Given the description of an element on the screen output the (x, y) to click on. 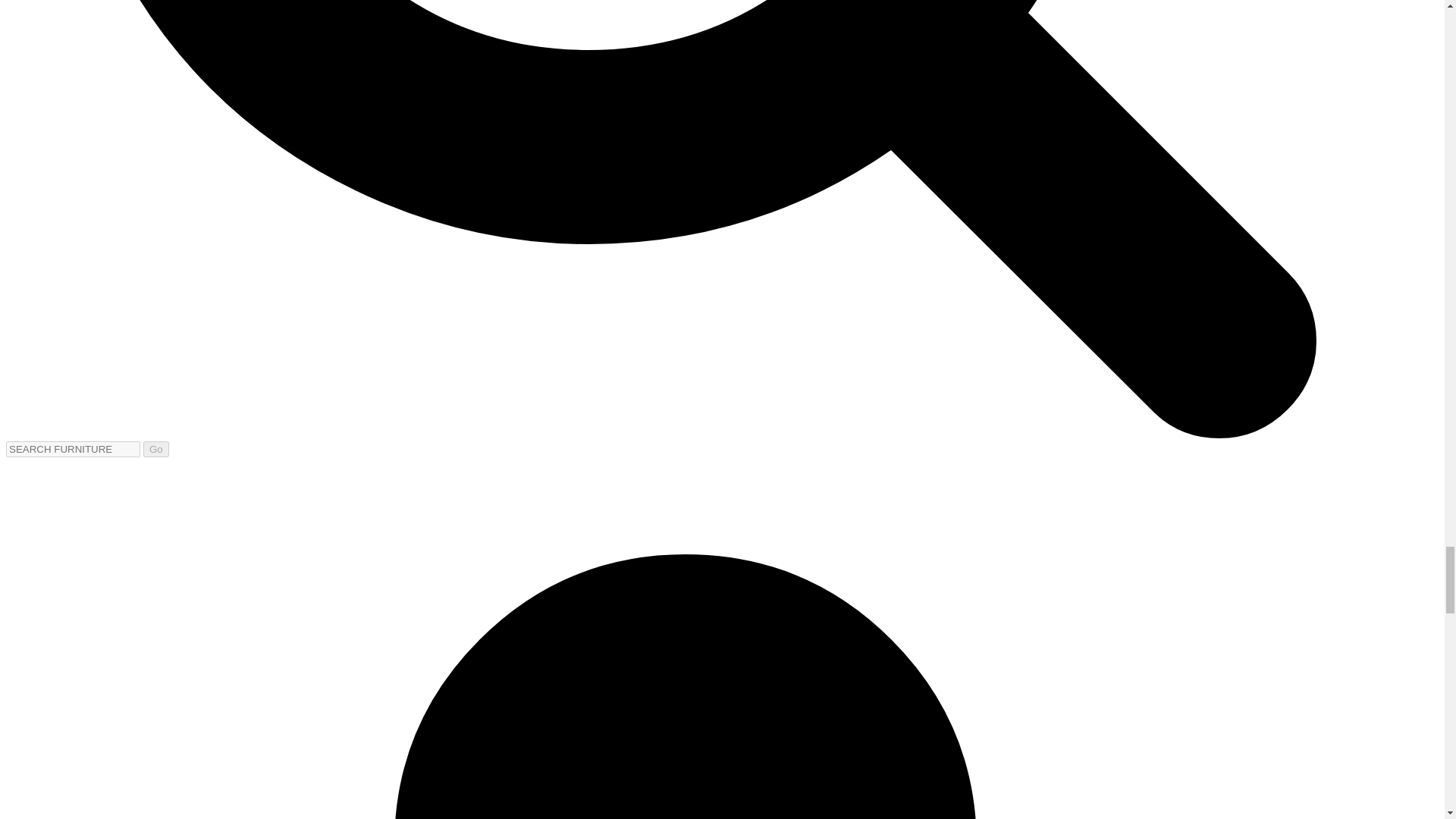
Go (155, 449)
Go (155, 449)
